Given the description of an element on the screen output the (x, y) to click on. 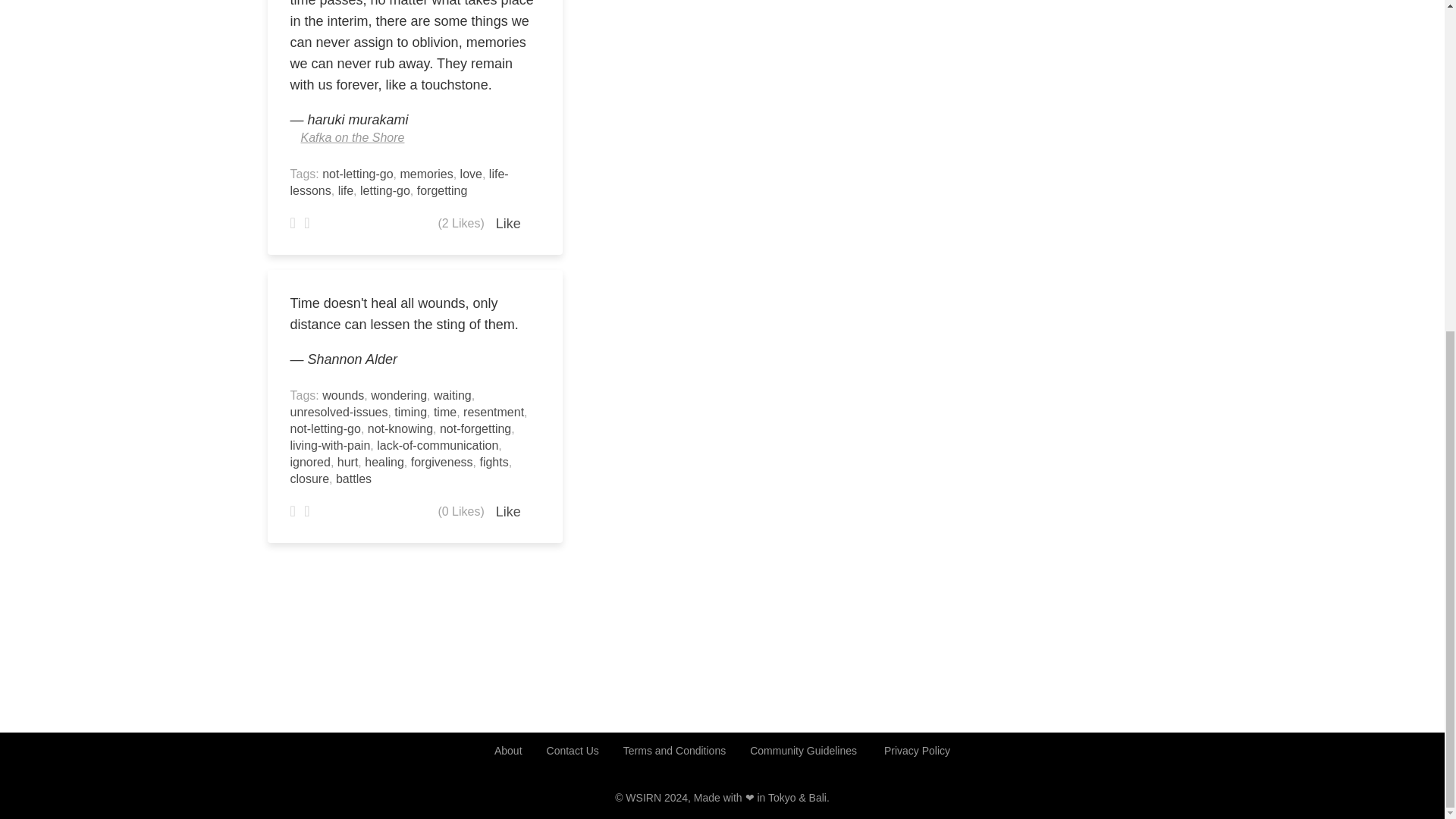
not-knowing (400, 428)
time (445, 411)
not-letting-go (324, 428)
love (470, 173)
haruki murakami (358, 119)
unresolved-issues (338, 411)
forgetting (441, 190)
wondering (398, 395)
timing (410, 411)
life (345, 190)
